Given the description of an element on the screen output the (x, y) to click on. 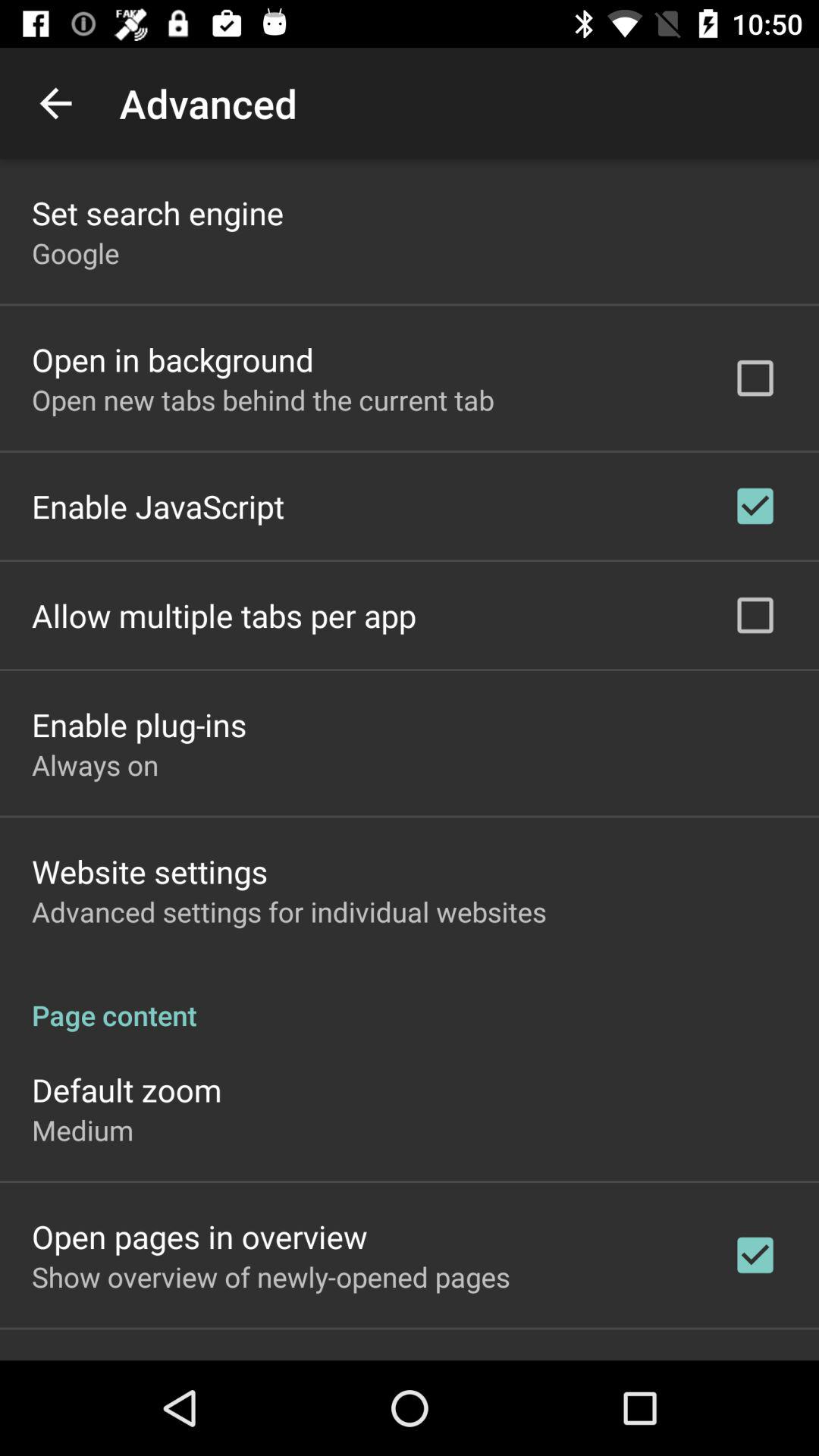
turn off the enable javascript item (157, 505)
